Given the description of an element on the screen output the (x, y) to click on. 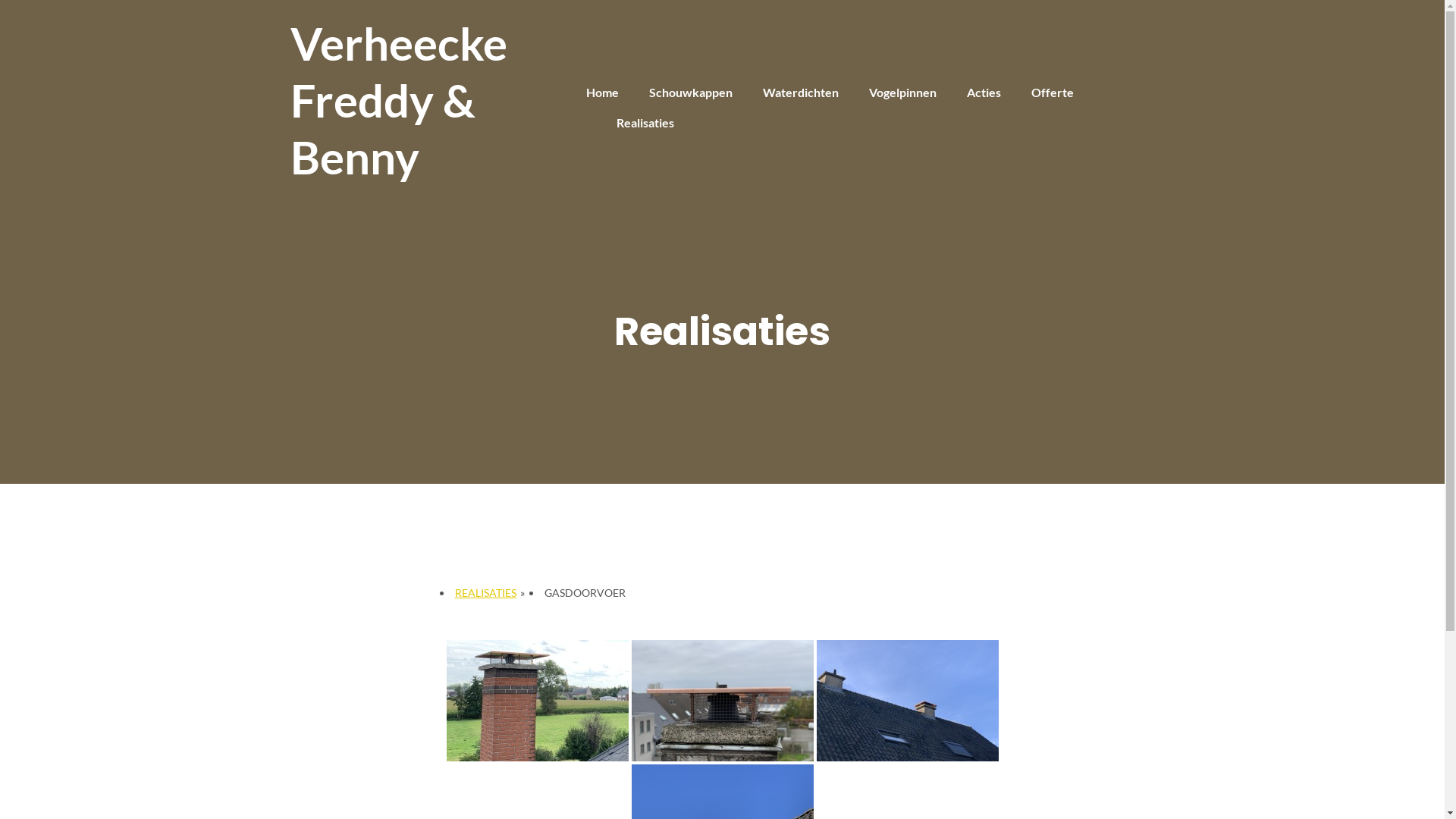
Verheecke Freddy & Benny Element type: text (425, 100)
Vogelpinnen Element type: text (902, 91)
IMG_3994 Element type: hover (906, 700)
Realisaties Element type: text (644, 122)
Schouwkappen Element type: text (690, 91)
Home Element type: text (601, 91)
Acties Element type: text (983, 91)
REALISATIES Element type: text (485, 592)
Waterdichten Element type: text (800, 91)
IMG_2943 Element type: hover (536, 700)
Offerte Element type: text (1052, 91)
IMG_6852 Element type: hover (721, 700)
